Given the description of an element on the screen output the (x, y) to click on. 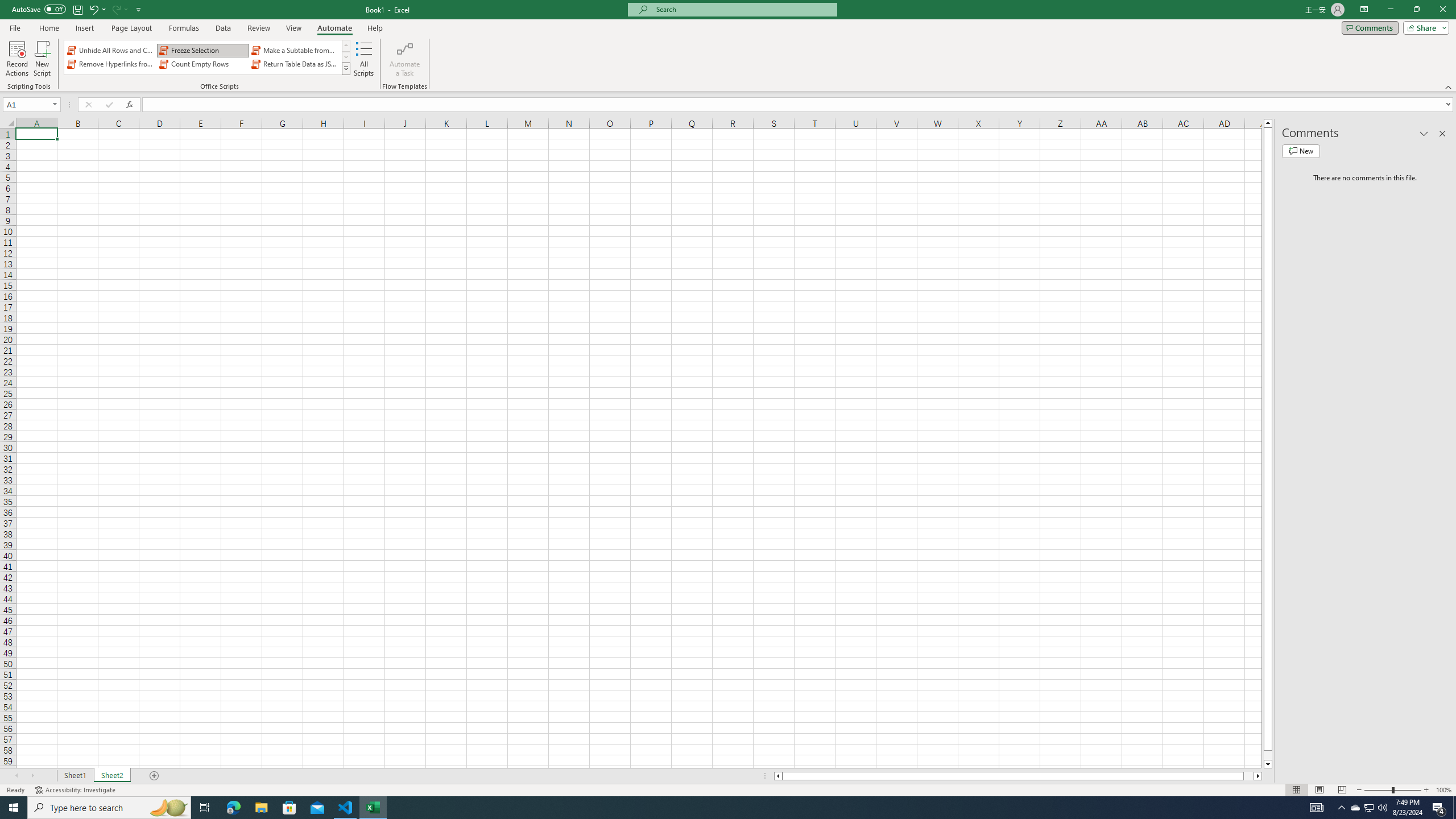
Task Pane Options (1423, 133)
Class: MsoCommandBar (728, 45)
New comment (1300, 151)
Accessibility Checker Accessibility: Investigate (76, 790)
